Given the description of an element on the screen output the (x, y) to click on. 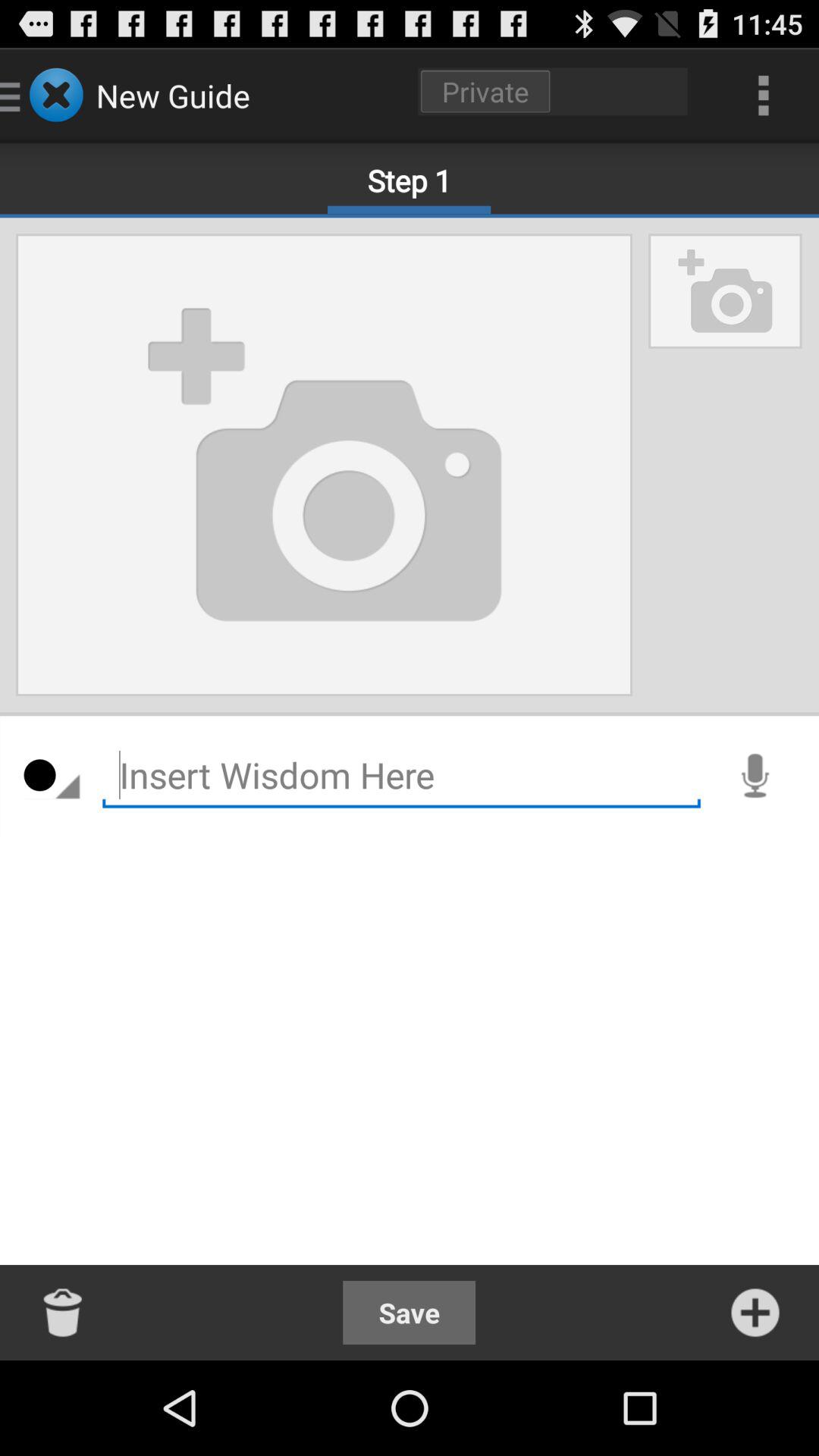
tap the item next to save button (63, 1312)
